Given the description of an element on the screen output the (x, y) to click on. 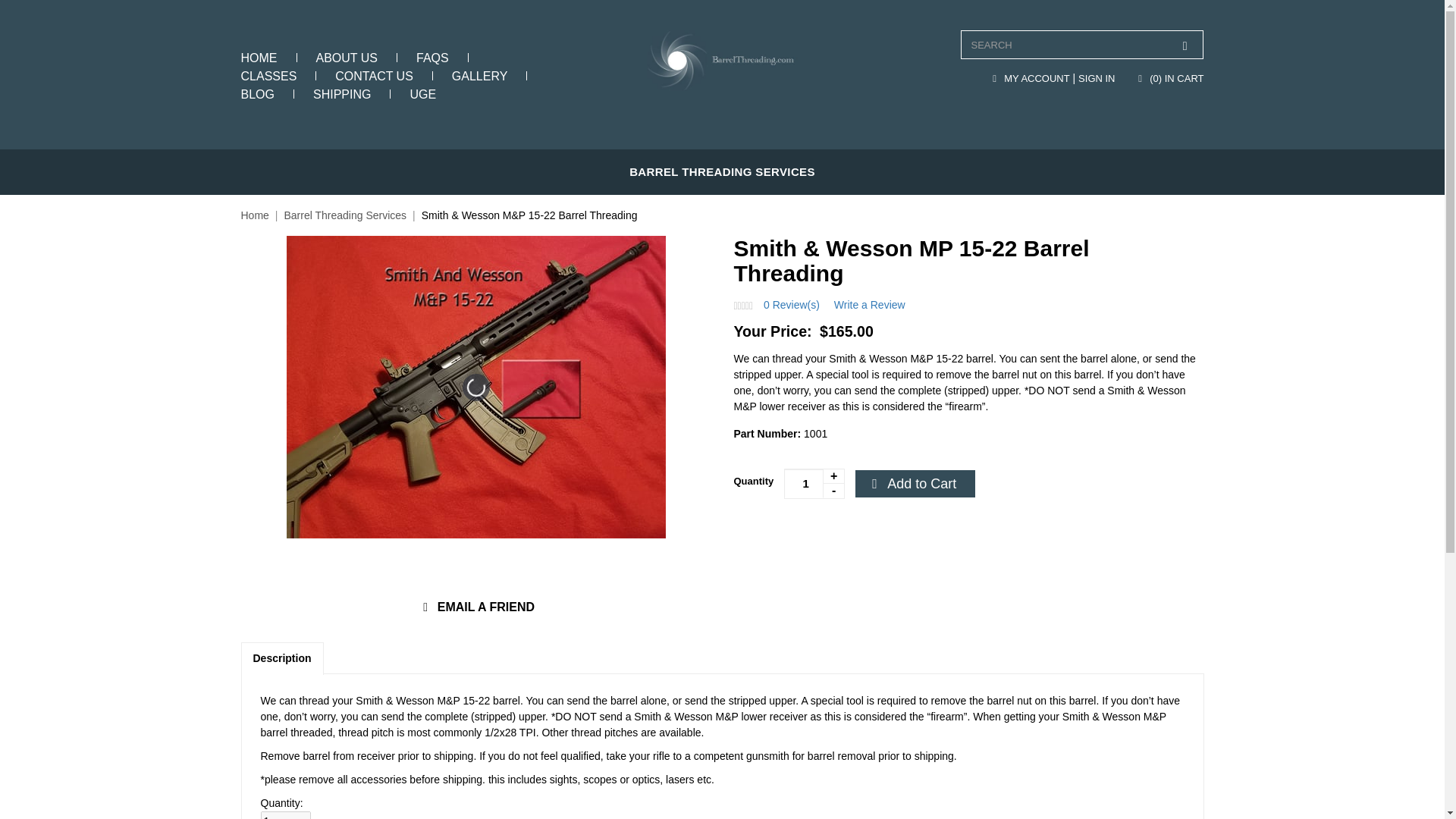
1 (285, 815)
1 (814, 483)
EMAIL A FRIEND (475, 607)
SHIPPING (342, 93)
BARREL THREADING SERVICES (722, 171)
Write a Review (869, 304)
SIGN IN (1096, 78)
HOME (259, 57)
GALLERY (479, 75)
CONTACT US (373, 75)
